Given the description of an element on the screen output the (x, y) to click on. 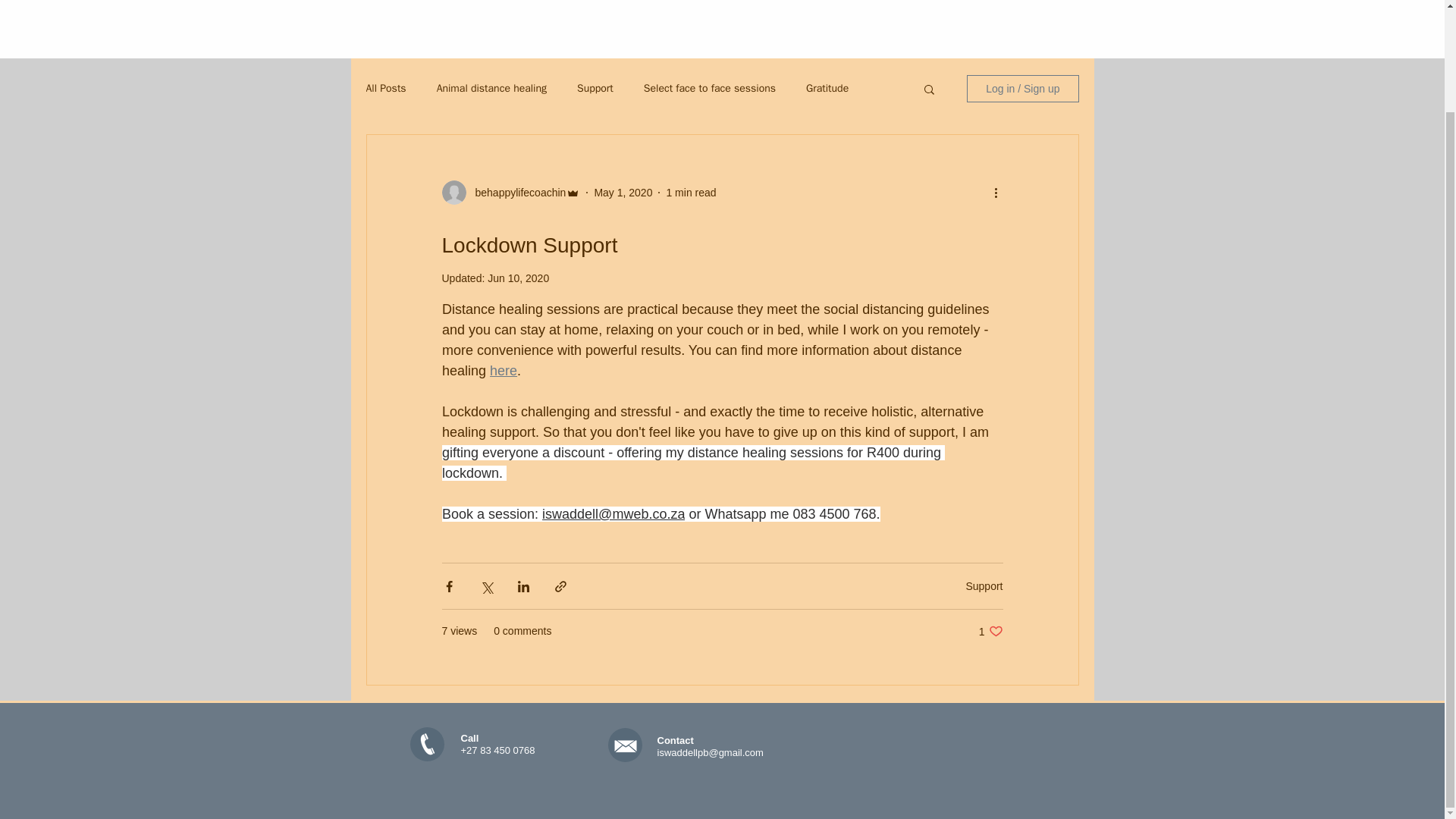
Jun 10, 2020 (517, 277)
1 min read (690, 191)
All Posts (385, 88)
Support (594, 88)
Support (984, 585)
Select face to face sessions (709, 88)
behappylifecoachin (515, 191)
May 1, 2020 (623, 191)
Animal distance healing (491, 88)
here (990, 631)
Gratitude (502, 370)
PERSONAL BEST BUSINESS CARD FRONT.jpg (827, 88)
